Given the description of an element on the screen output the (x, y) to click on. 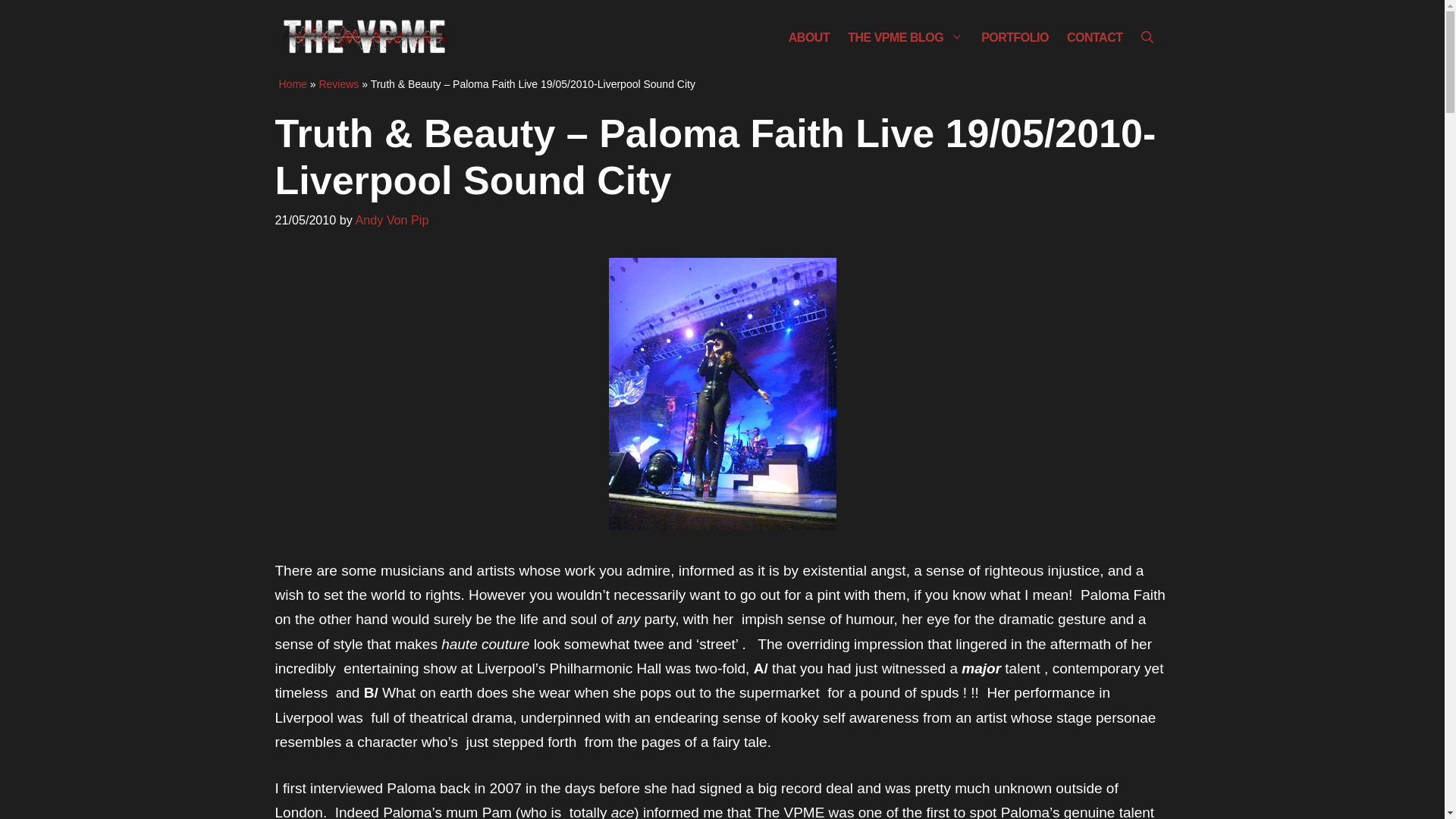
ABOUT (808, 37)
Reviews (338, 83)
CONTACT (1095, 37)
PORTFOLIO (1015, 37)
Home (293, 83)
View all posts by Andy Von Pip (391, 219)
Andy Von Pip (391, 219)
THE VPME BLOG (905, 37)
